Given the description of an element on the screen output the (x, y) to click on. 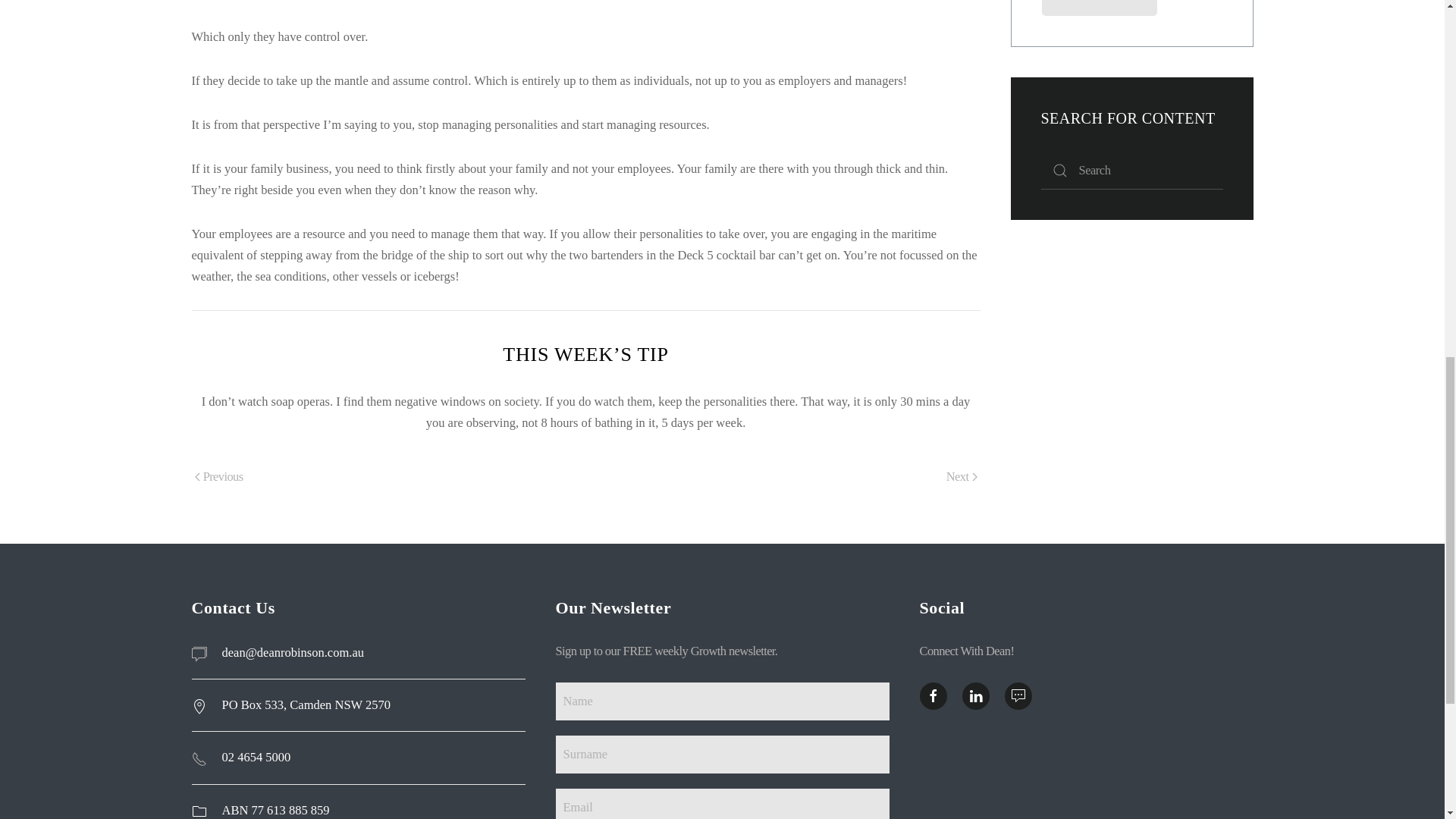
Submit (1099, 7)
